Given the description of an element on the screen output the (x, y) to click on. 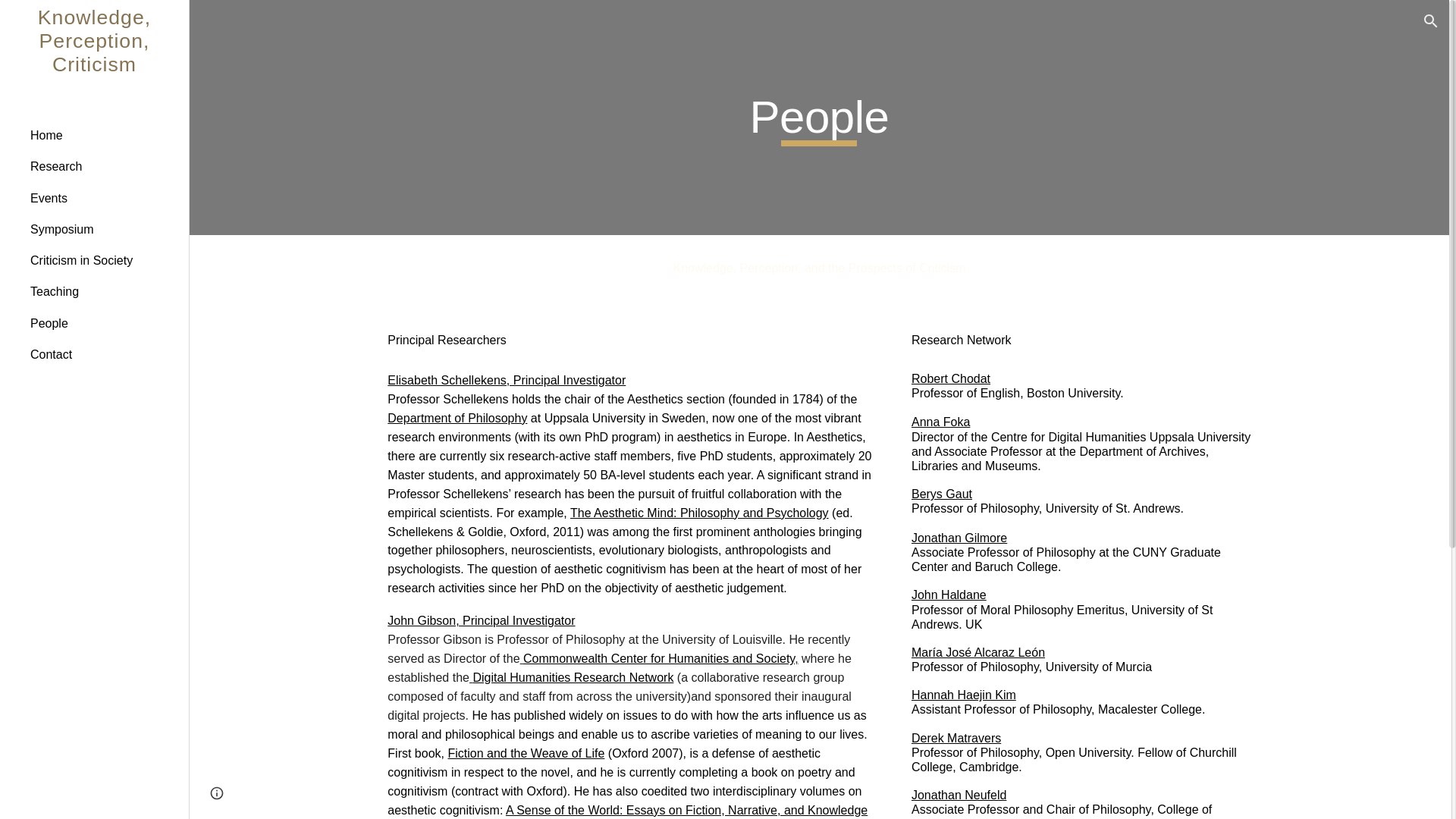
Derek Matravers (956, 738)
Symposium (103, 228)
The Aesthetic Mind: Philosophy and Psychology (699, 512)
Department of Philosophy (457, 418)
Knowledge, Perception, Criticism (94, 59)
Anna Foka (940, 421)
John Gibson, Principal Investigator (481, 620)
John Haldane (949, 594)
Robert Chodat (950, 378)
Events (103, 197)
Fiction and the Weave of Life (525, 753)
Digital Humanities Research Network (570, 676)
Hannah Haejin Kim (963, 694)
Elisabeth Schellekens, Principal Investigator (506, 379)
